Given the description of an element on the screen output the (x, y) to click on. 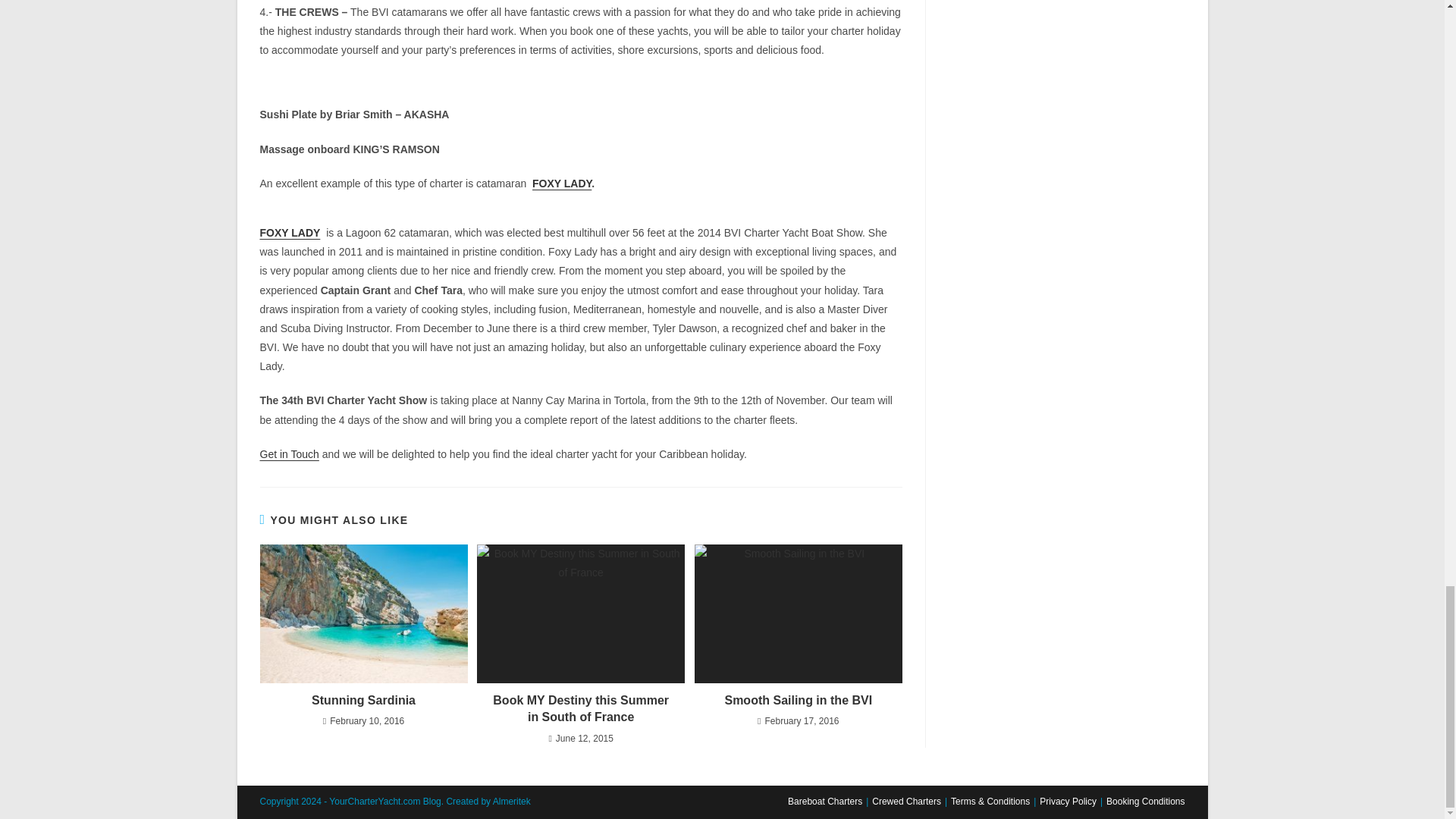
Smooth Sailing in the BVI (798, 700)
FOXY LADY (561, 183)
FOXY LADY (289, 232)
Stunning Sardinia (362, 700)
Stunning Sardinia (362, 700)
Book MY Destiny this Summer in South of France (580, 709)
Book MY Destiny this Summer in South of France (580, 709)
Get in Touch (288, 453)
Smooth Sailing in the BVI (798, 700)
